Given the description of an element on the screen output the (x, y) to click on. 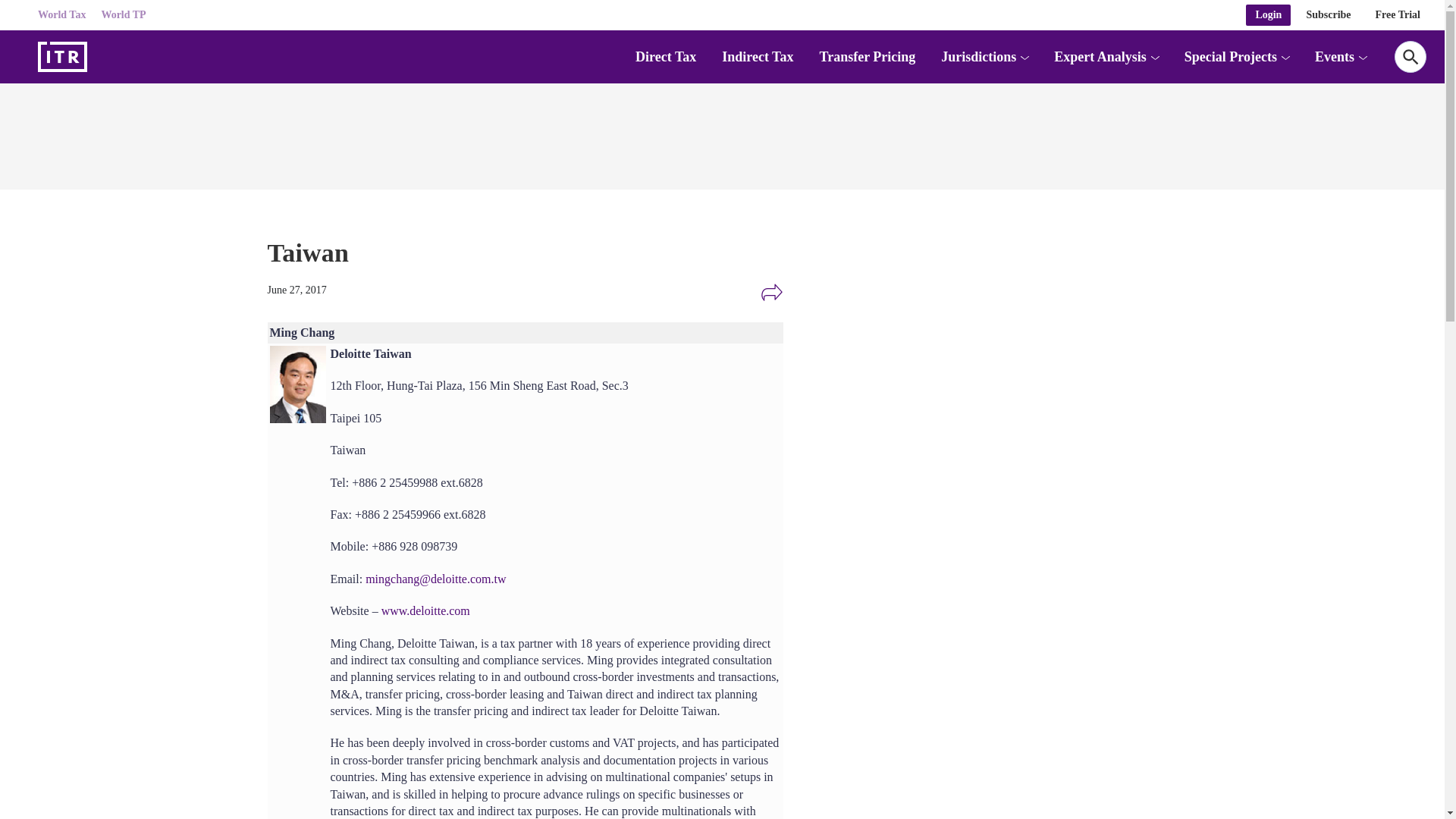
Indirect Tax (757, 56)
Login (1268, 14)
Direct Tax (664, 56)
3rd party ad content (721, 132)
World TP (122, 14)
Transfer Pricing (866, 56)
Subscribe (1328, 14)
Free Trial (1398, 14)
Share (771, 292)
Expert Analysis (1100, 56)
3rd party ad content (979, 549)
World Tax (61, 14)
3rd party ad content (979, 344)
